Given the description of an element on the screen output the (x, y) to click on. 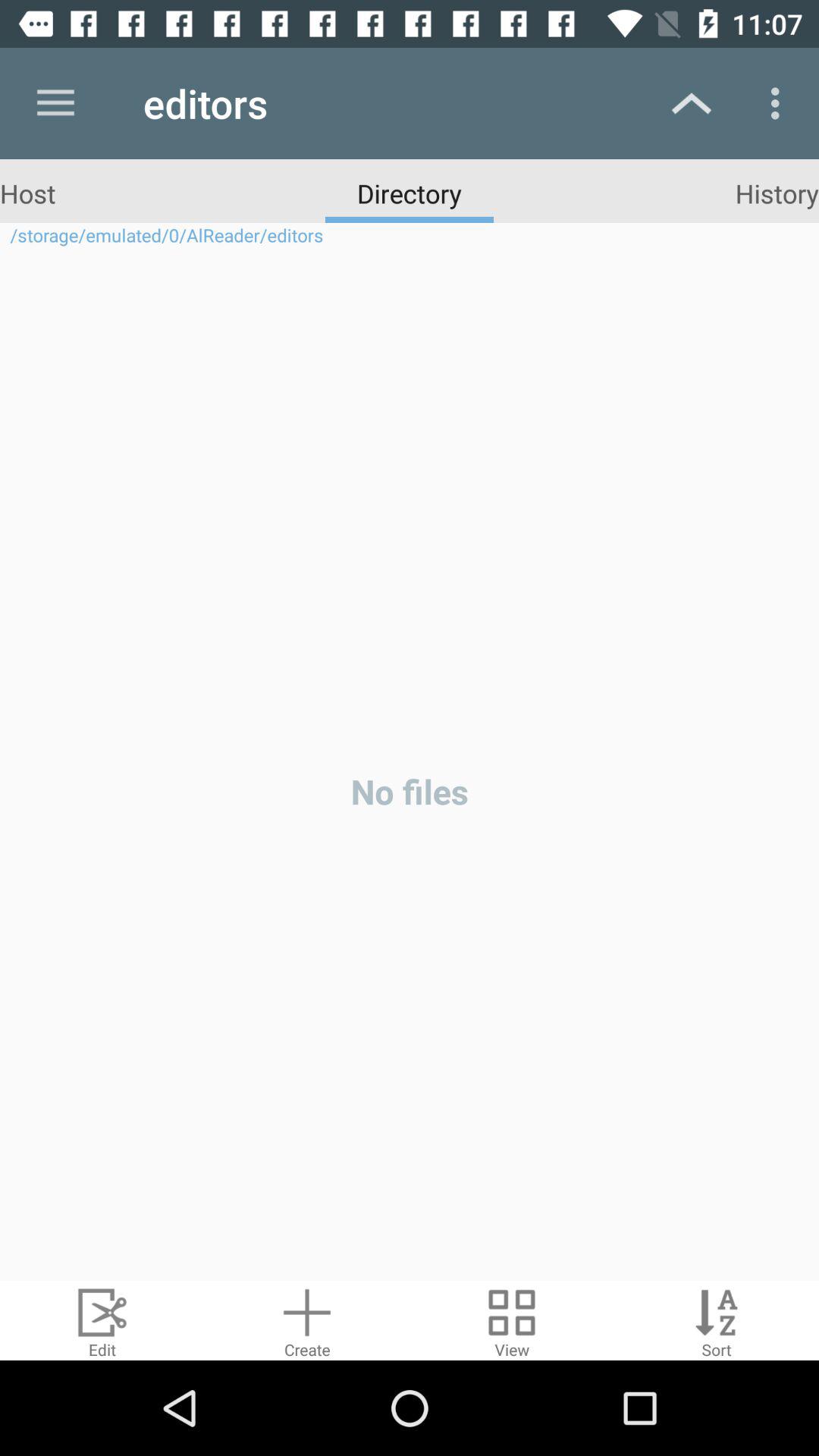
type of visualization (511, 1320)
